Given the description of an element on the screen output the (x, y) to click on. 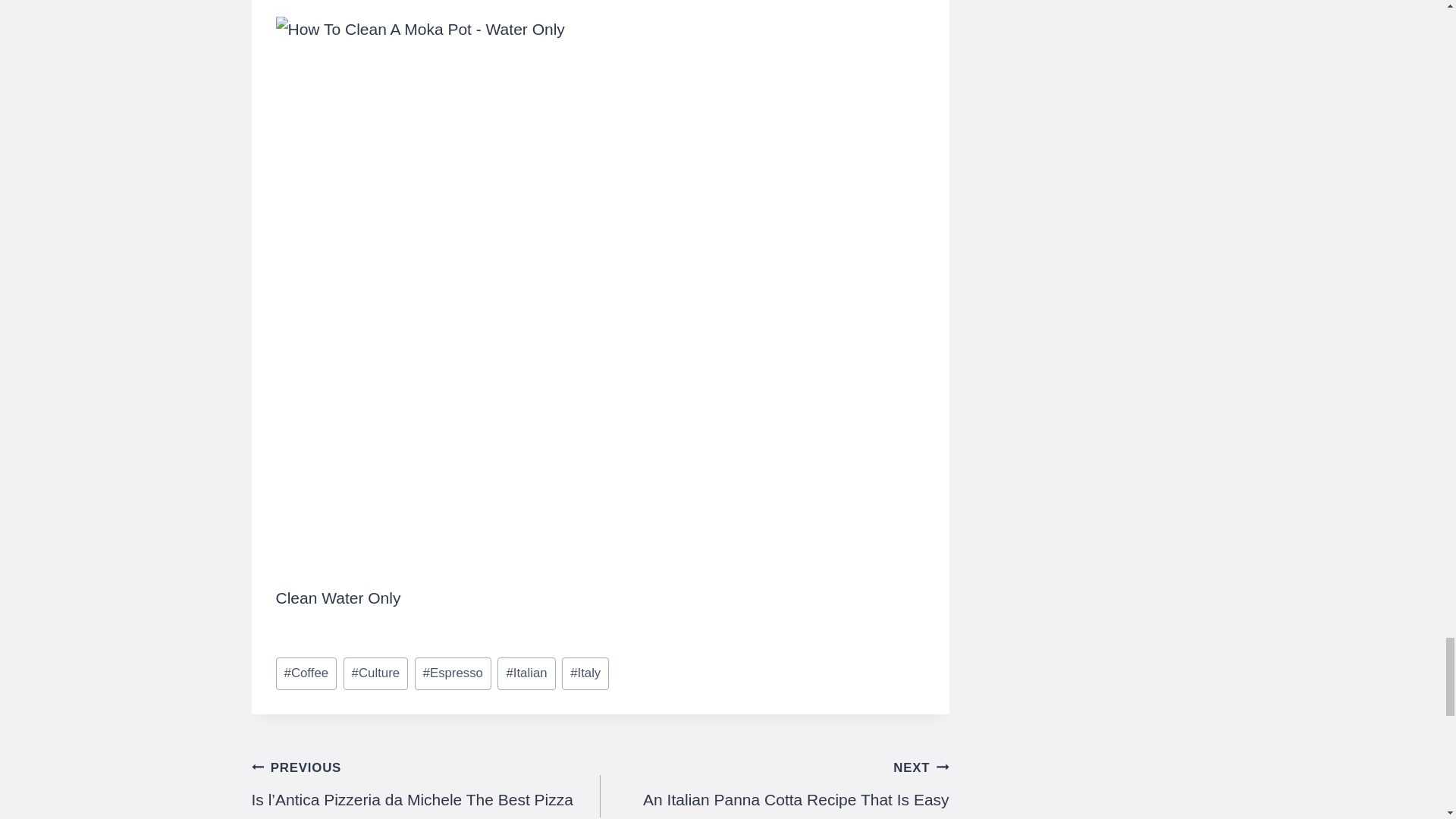
Espresso (453, 673)
Italy (585, 673)
Culture (376, 673)
Italian (525, 673)
Coffee (306, 673)
